Given the description of an element on the screen output the (x, y) to click on. 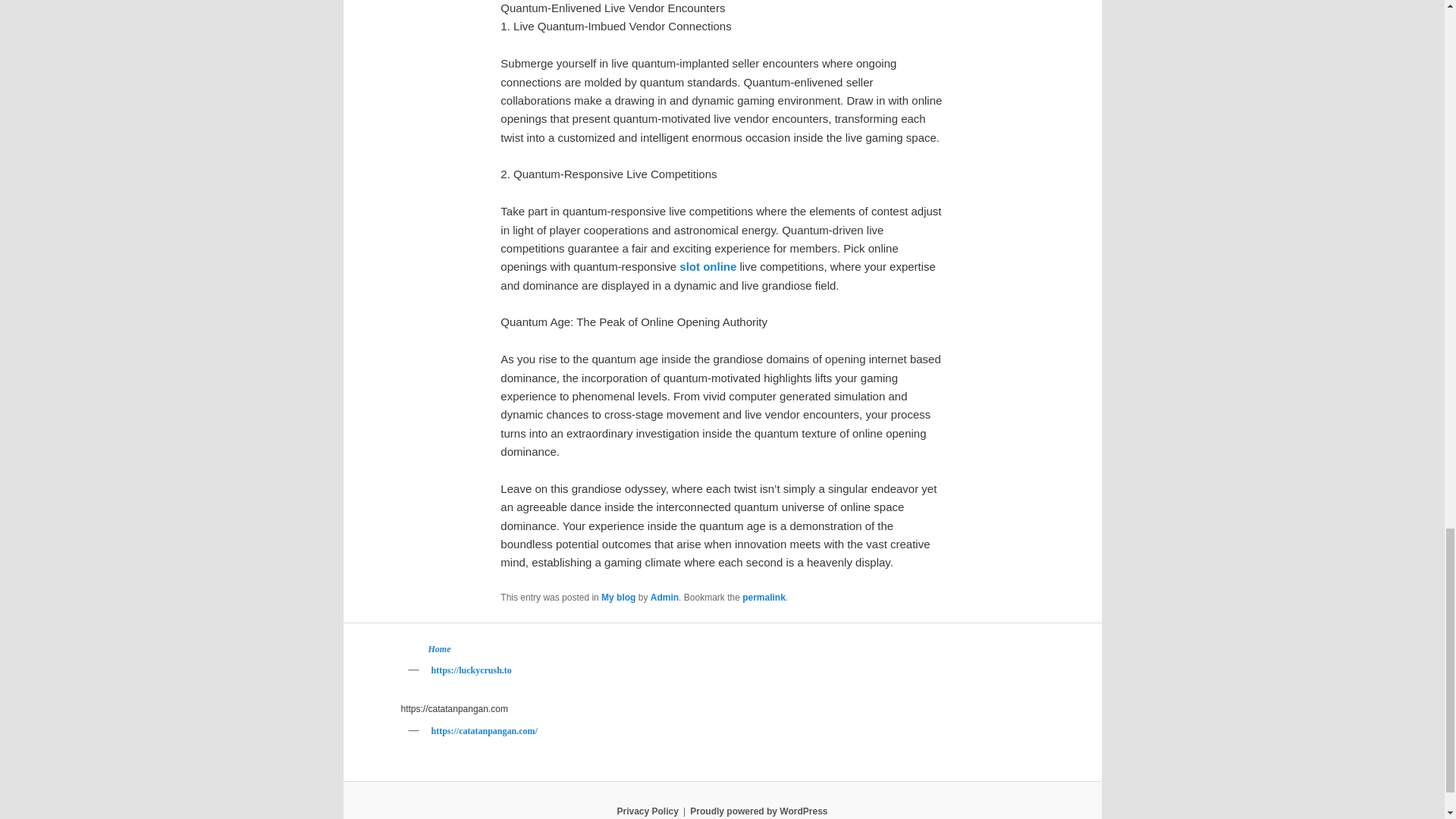
Home (438, 648)
permalink (764, 597)
Proudly powered by WordPress (758, 810)
My blog (617, 597)
slot online (707, 266)
Semantic Personal Publishing Platform (758, 810)
Admin (664, 597)
Privacy Policy (646, 810)
